Given the description of an element on the screen output the (x, y) to click on. 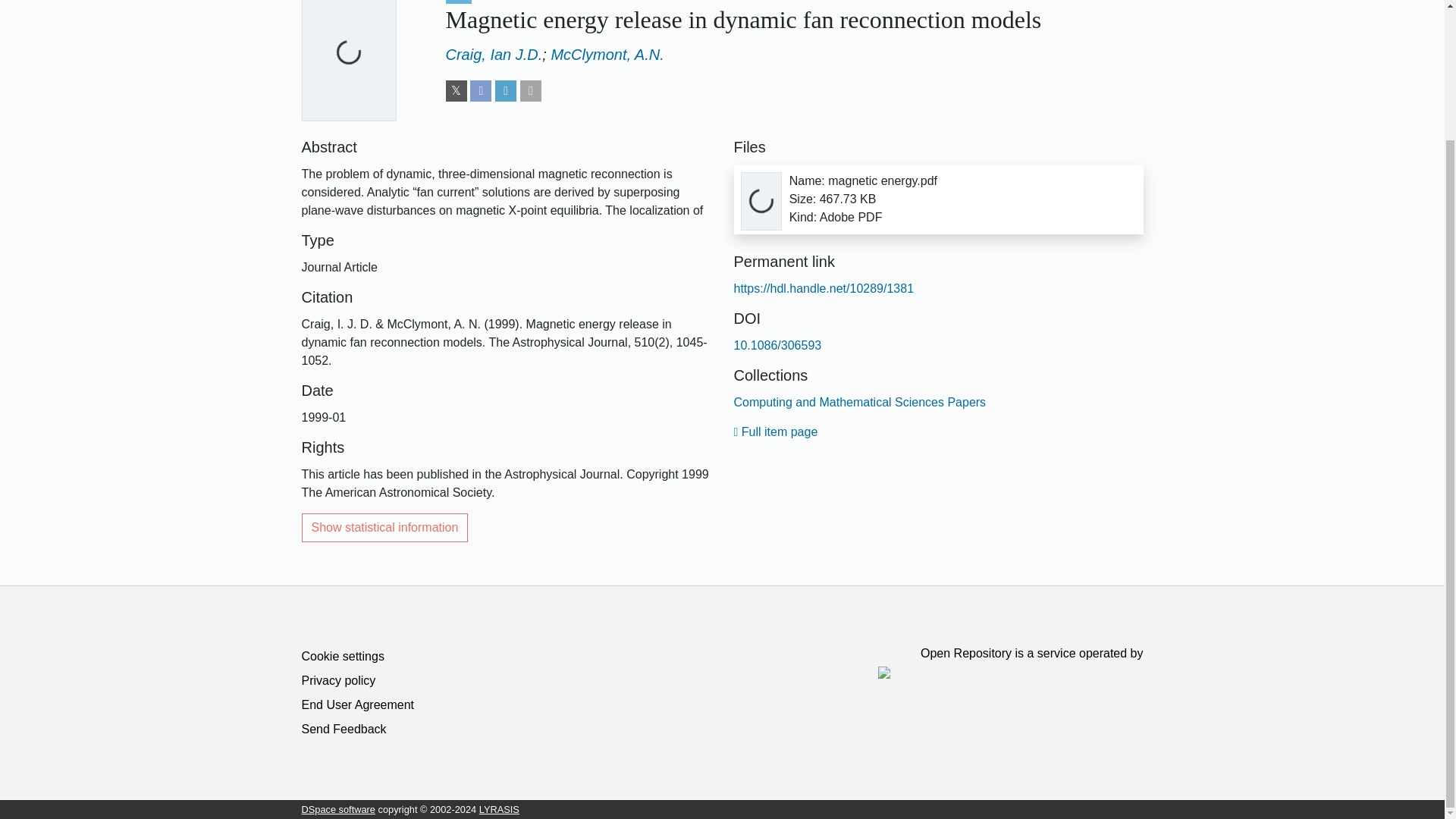
McClymont, A.N. (606, 54)
Privacy policy (338, 680)
Show statistical information (384, 527)
Cookie settings (342, 656)
Full item page (775, 431)
Computing and Mathematical Sciences Papers (860, 401)
Craig, Ian J.D. (494, 54)
